Given the description of an element on the screen output the (x, y) to click on. 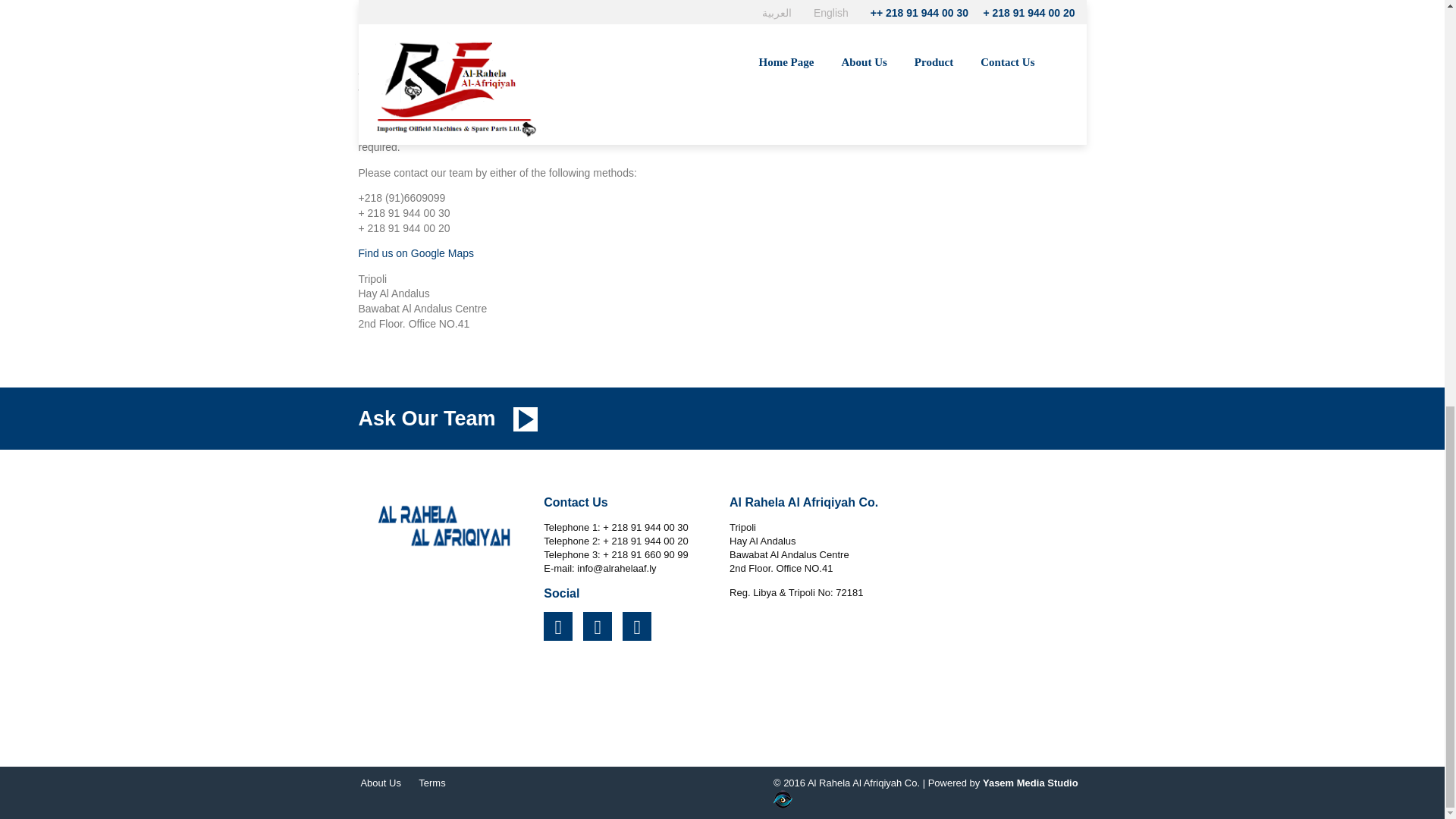
Yasem Media Studio    (929, 793)
About Us (379, 782)
Ask Our Team (426, 418)
Find us on Google Maps (416, 253)
Terms (432, 782)
